Given the description of an element on the screen output the (x, y) to click on. 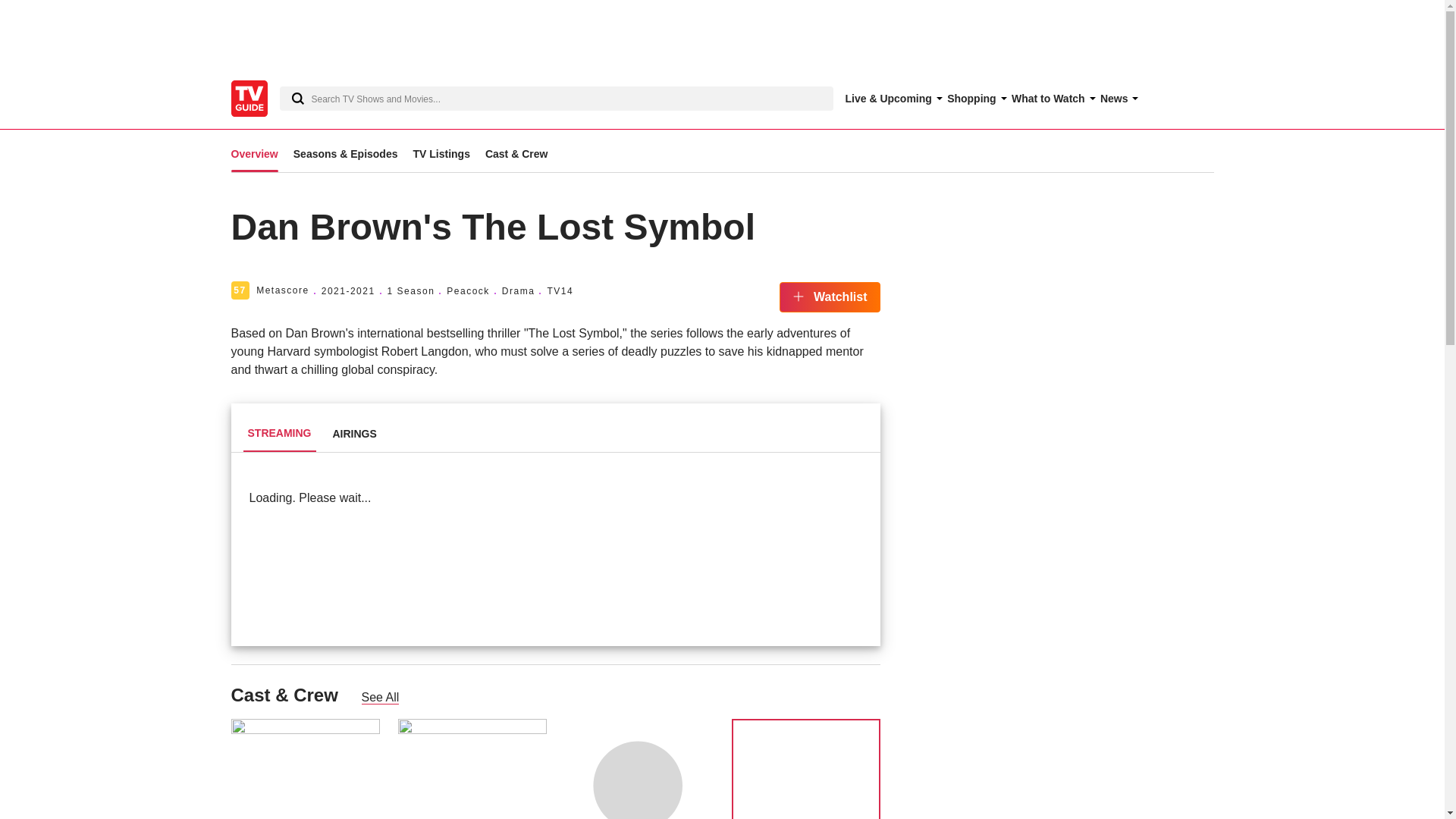
Shopping (975, 98)
What to Watch (1050, 98)
News (1117, 98)
